Given the description of an element on the screen output the (x, y) to click on. 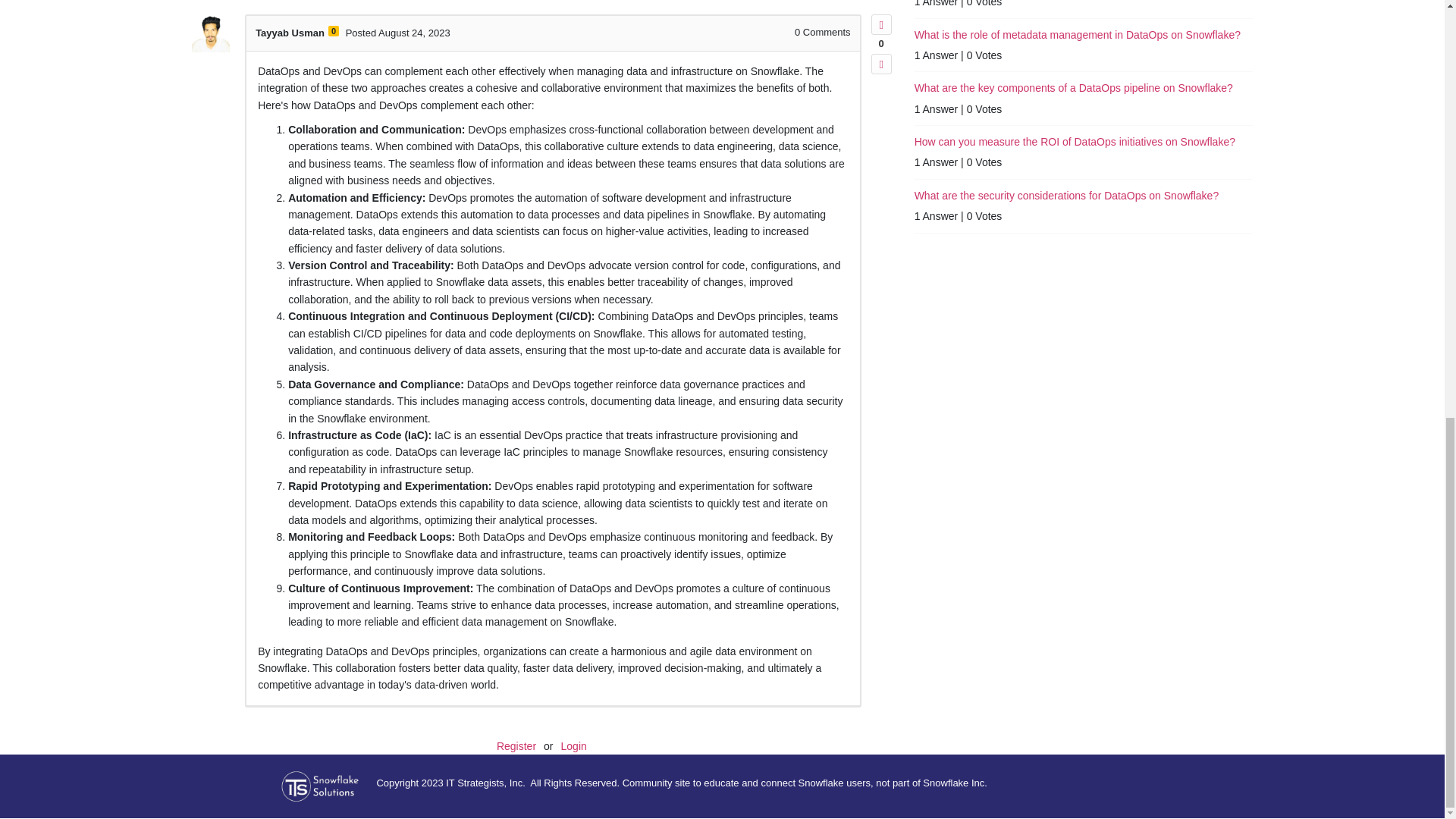
Reputation (334, 30)
Down vote this answer (880, 64)
Up vote this answer (880, 24)
